Given the description of an element on the screen output the (x, y) to click on. 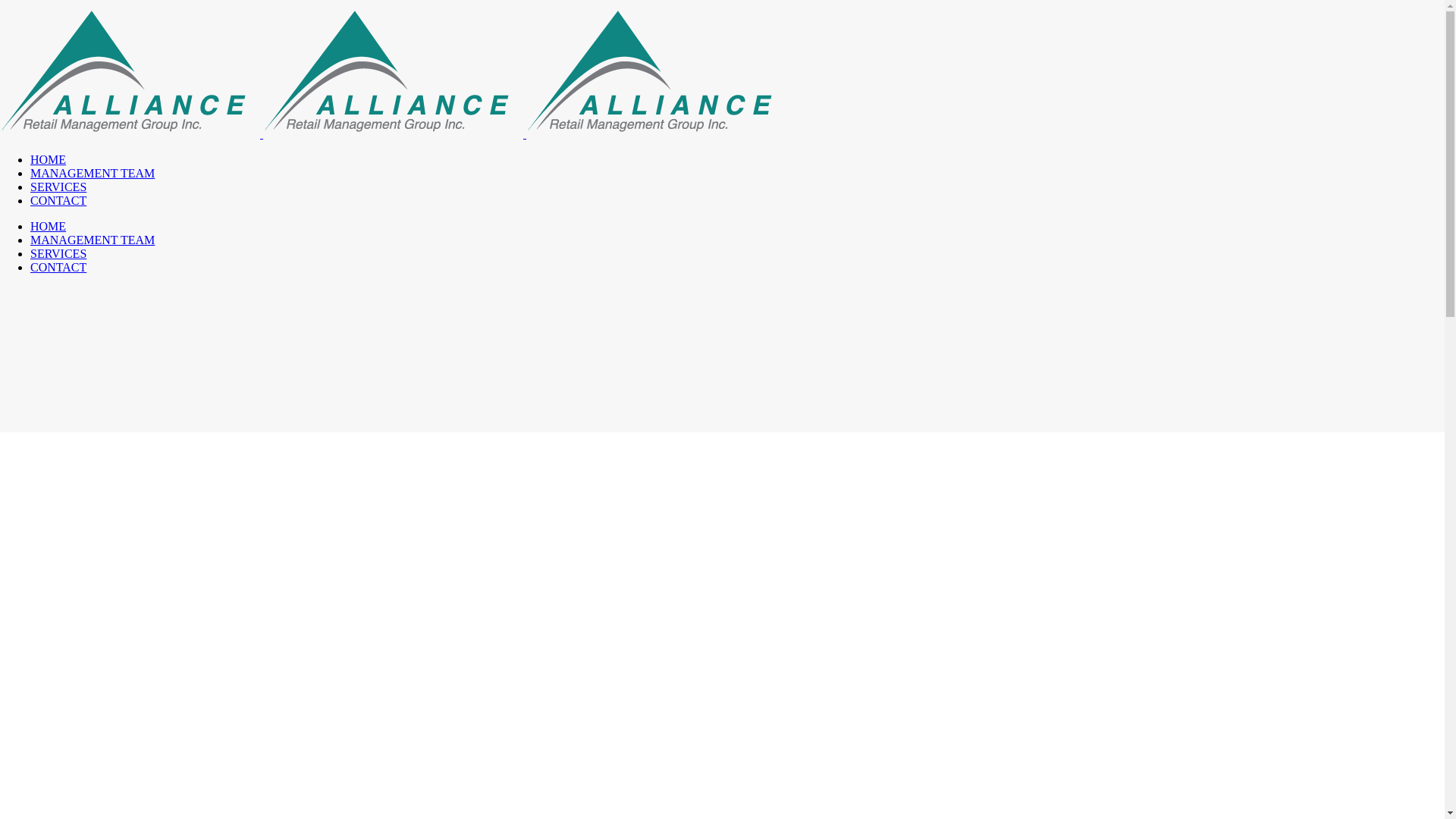
CONTACT Element type: text (58, 200)
MANAGEMENT TEAM Element type: text (92, 172)
SERVICES Element type: text (58, 186)
MANAGEMENT TEAM Element type: text (92, 239)
Alliance Retail Management Group Inc. Element type: hover (393, 133)
SERVICES Element type: text (58, 253)
HOME Element type: text (47, 159)
HOME Element type: text (47, 225)
CONTACT Element type: text (58, 266)
